Given the description of an element on the screen output the (x, y) to click on. 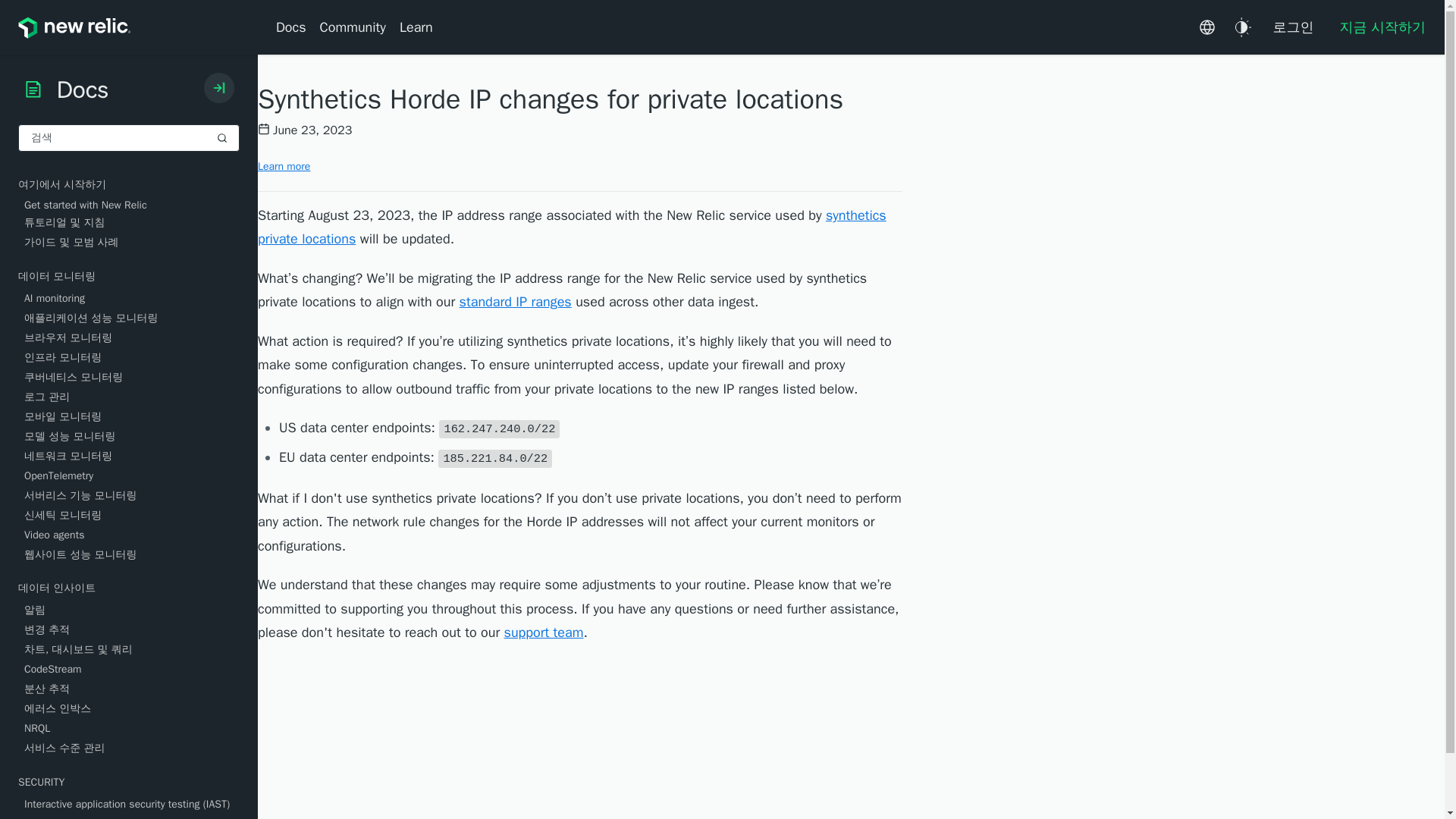
Learn (416, 27)
Docs (294, 27)
Get started with New Relic (131, 204)
Community (353, 27)
